Given the description of an element on the screen output the (x, y) to click on. 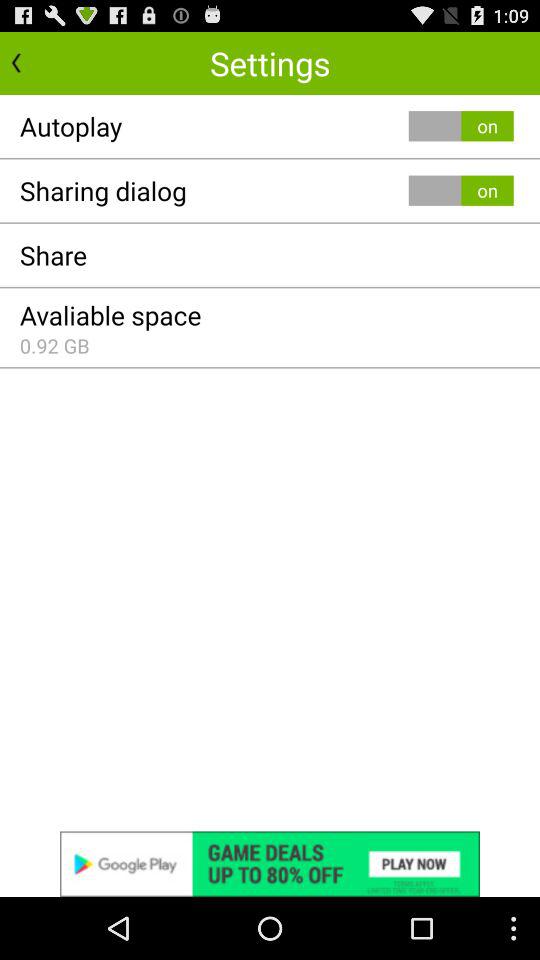
previous the page (36, 62)
